Given the description of an element on the screen output the (x, y) to click on. 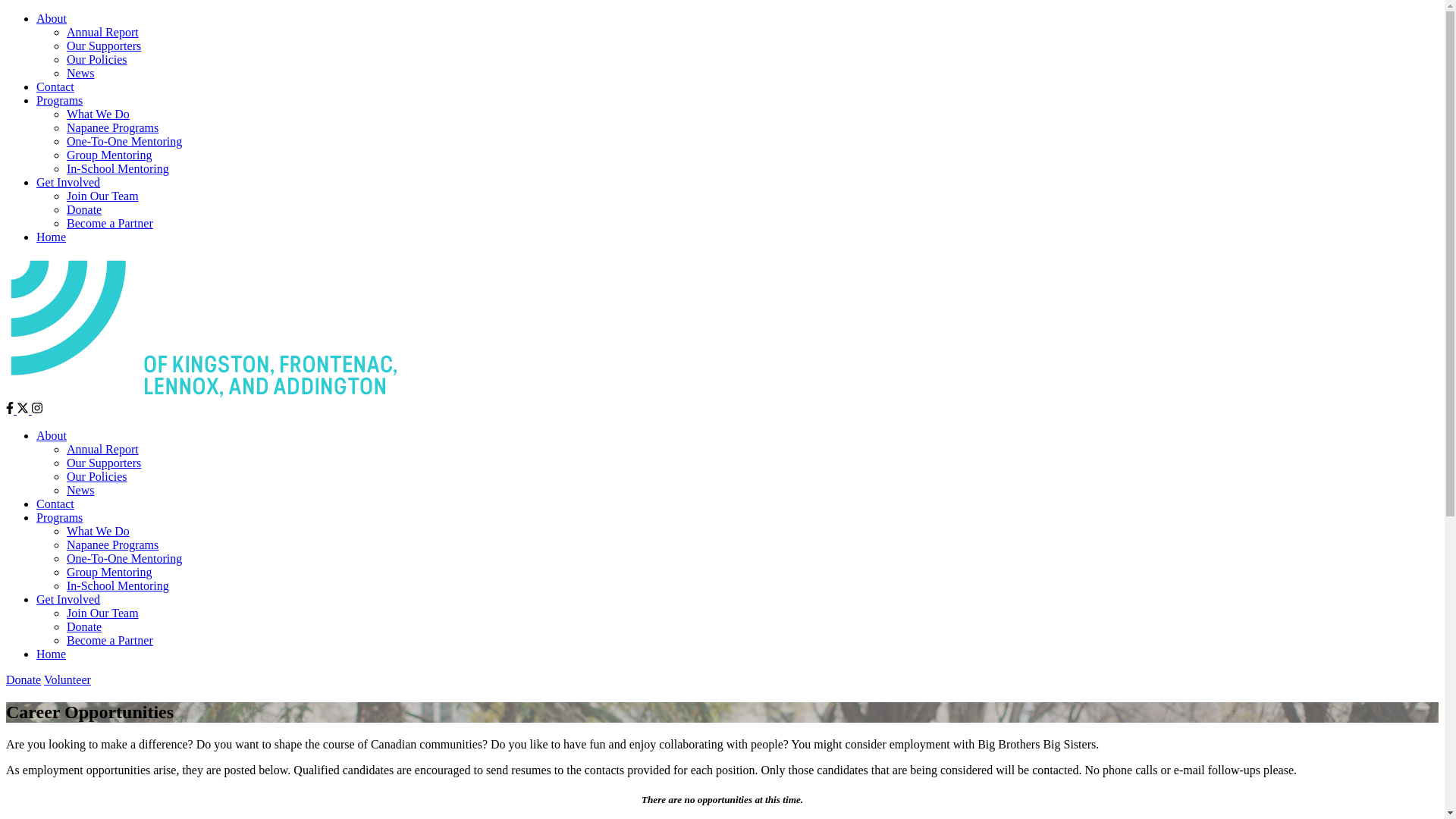
Our Supporters Element type: text (103, 45)
What We Do Element type: text (97, 530)
Get Involved Element type: text (68, 181)
One-To-One Mentoring Element type: text (124, 558)
News Element type: text (80, 72)
Annual Report Element type: text (102, 31)
Get Involved Element type: text (68, 599)
Group Mentoring Element type: text (108, 154)
Napanee Programs Element type: text (112, 544)
Home Element type: text (50, 653)
Programs Element type: text (59, 517)
Volunteer Element type: text (67, 679)
Programs Element type: text (59, 100)
Join Our Team Element type: text (102, 195)
Donate Element type: text (83, 626)
In-School Mentoring Element type: text (117, 168)
Become a Partner Element type: text (109, 222)
Group Mentoring Element type: text (108, 571)
Annual Report Element type: text (102, 448)
About Element type: text (51, 435)
Home Element type: text (50, 236)
News Element type: text (80, 489)
What We Do Element type: text (97, 113)
Join Our Team Element type: text (102, 612)
Our Policies Element type: text (96, 59)
Napanee Programs Element type: text (112, 127)
In-School Mentoring Element type: text (117, 585)
Our Supporters Element type: text (103, 462)
Donate Element type: text (23, 679)
Our Policies Element type: text (96, 476)
Contact Element type: text (55, 503)
About Element type: text (51, 18)
Donate Element type: text (83, 209)
Become a Partner Element type: text (109, 639)
Contact Element type: text (55, 86)
One-To-One Mentoring Element type: text (124, 140)
